Given the description of an element on the screen output the (x, y) to click on. 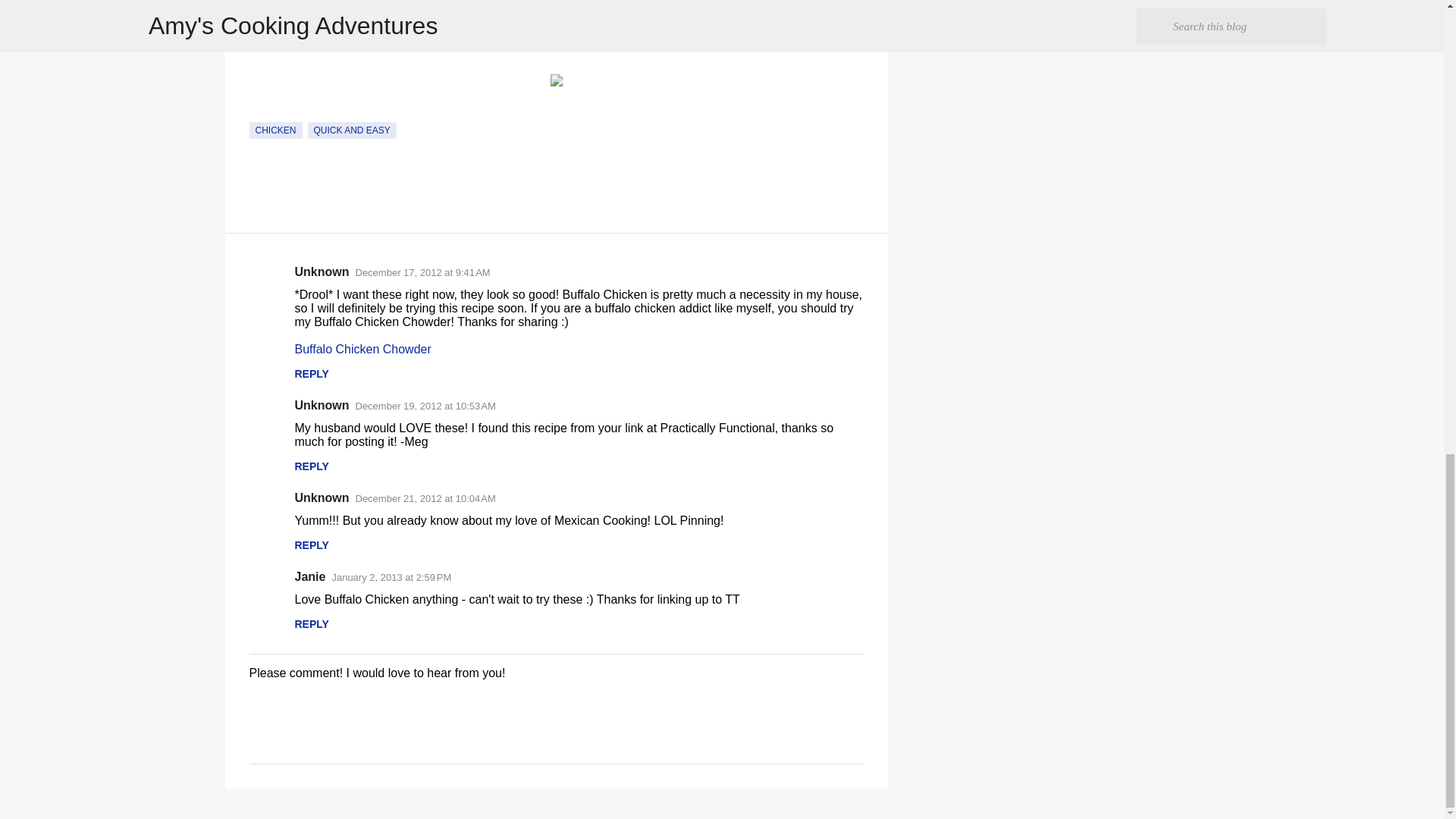
REPLY (311, 544)
REPLY (311, 466)
Unknown (321, 404)
Unknown (321, 497)
Janie (309, 576)
Unknown (321, 271)
REPLY (311, 373)
Buffalo Chicken Chowder (362, 349)
